Given the description of an element on the screen output the (x, y) to click on. 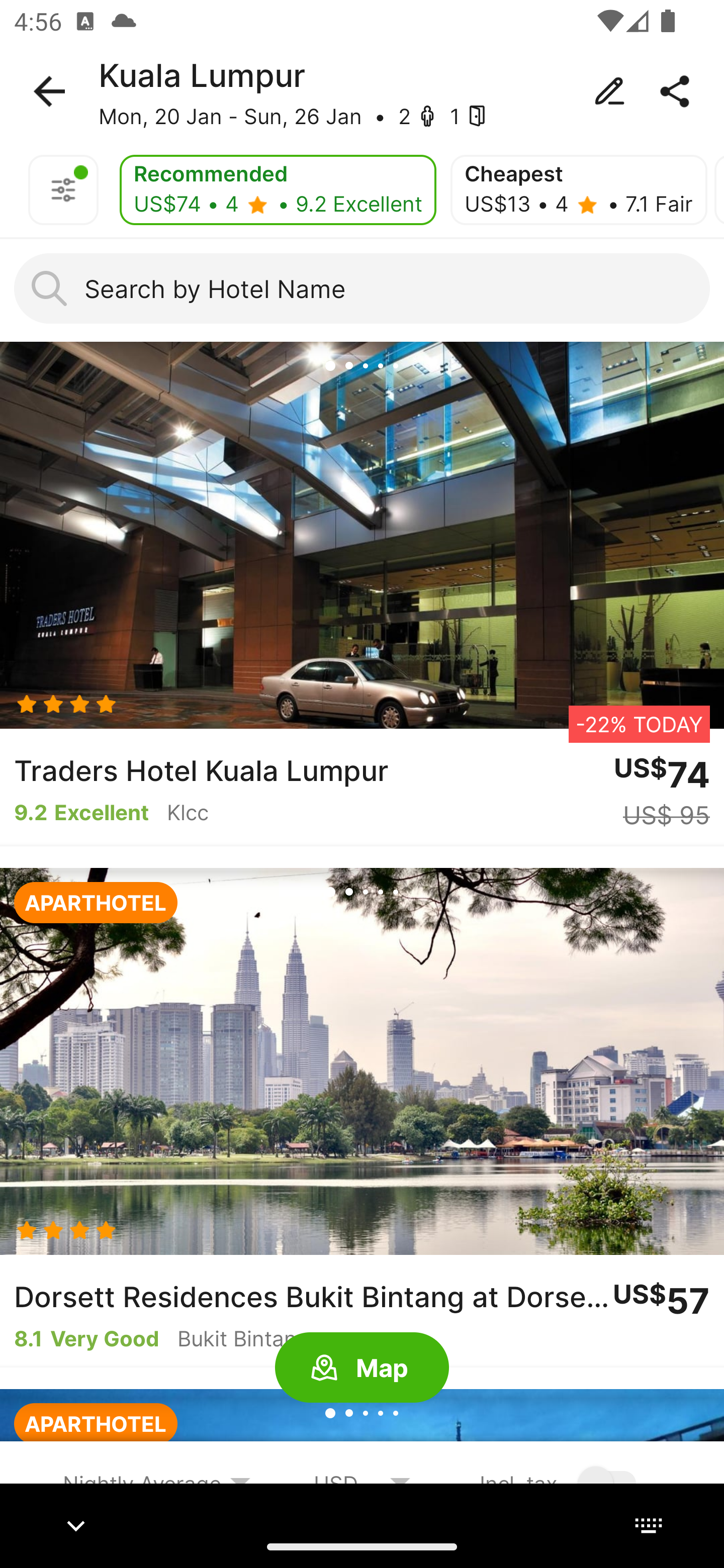
Recommended  US$74  • 4 - • 9.2 Excellent (277, 190)
Cheapest US$13  • 4 - • 7.1 Fair (578, 190)
Search by Hotel Name  (361, 288)
Map  (361, 1367)
